Given the description of an element on the screen output the (x, y) to click on. 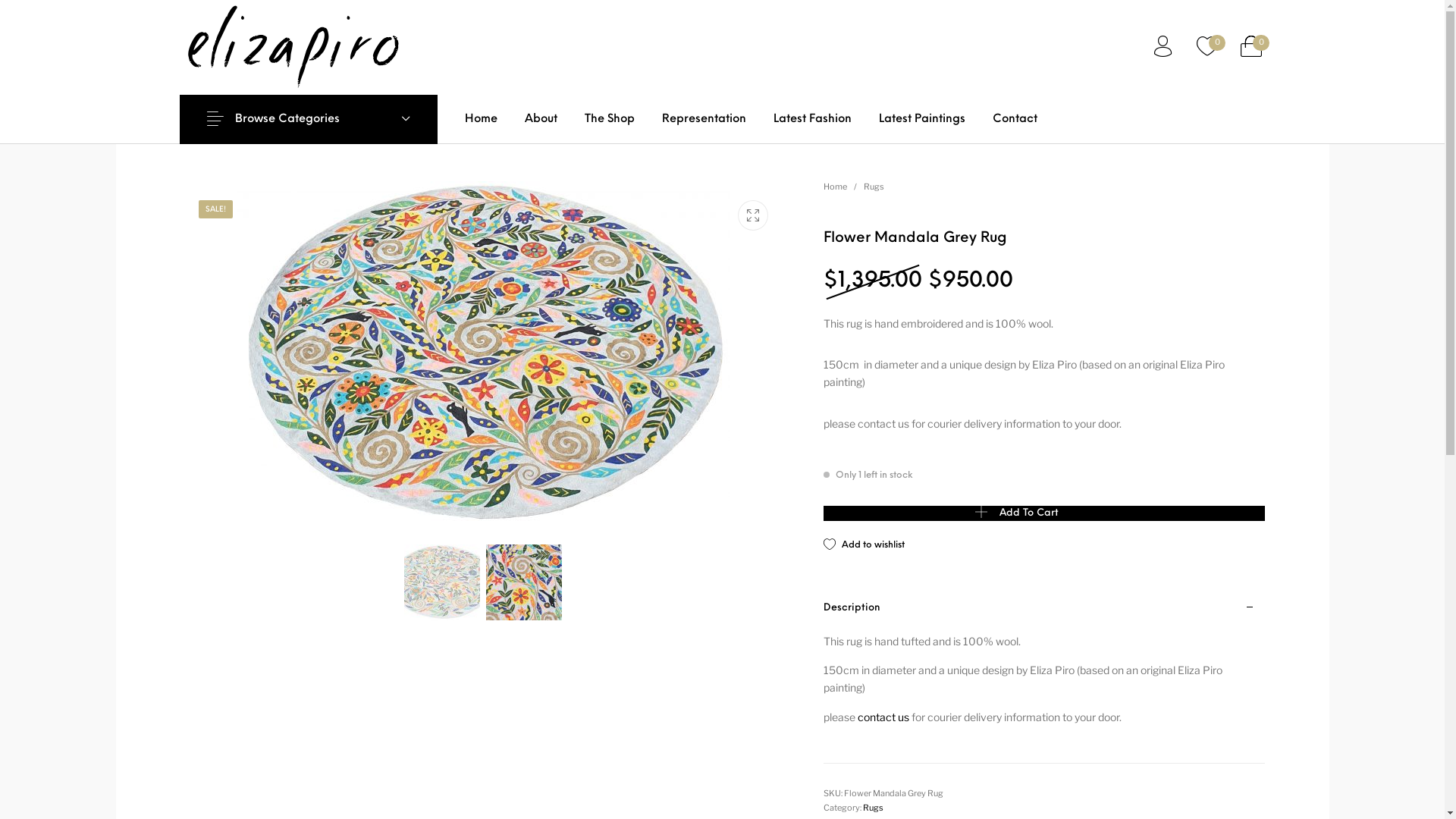
Rugs Element type: text (872, 807)
0 Element type: text (1206, 47)
Add To Cart Element type: text (1044, 512)
The Shop Element type: text (608, 119)
Latest Fashion Element type: text (812, 119)
Browse Categories Element type: text (307, 119)
Contact Element type: text (1014, 119)
Rugs Element type: text (873, 186)
Eliza Piro Element type: hover (292, 47)
Description Element type: text (1044, 607)
0 Element type: text (1250, 47)
rug_20202 Element type: hover (482, 353)
About Element type: text (541, 119)
Add to wishlist Element type: text (863, 545)
contact us Element type: text (883, 716)
Latest Paintings Element type: text (921, 119)
Home Element type: text (480, 119)
Home Element type: text (835, 186)
Representation Element type: text (703, 119)
